Given the description of an element on the screen output the (x, y) to click on. 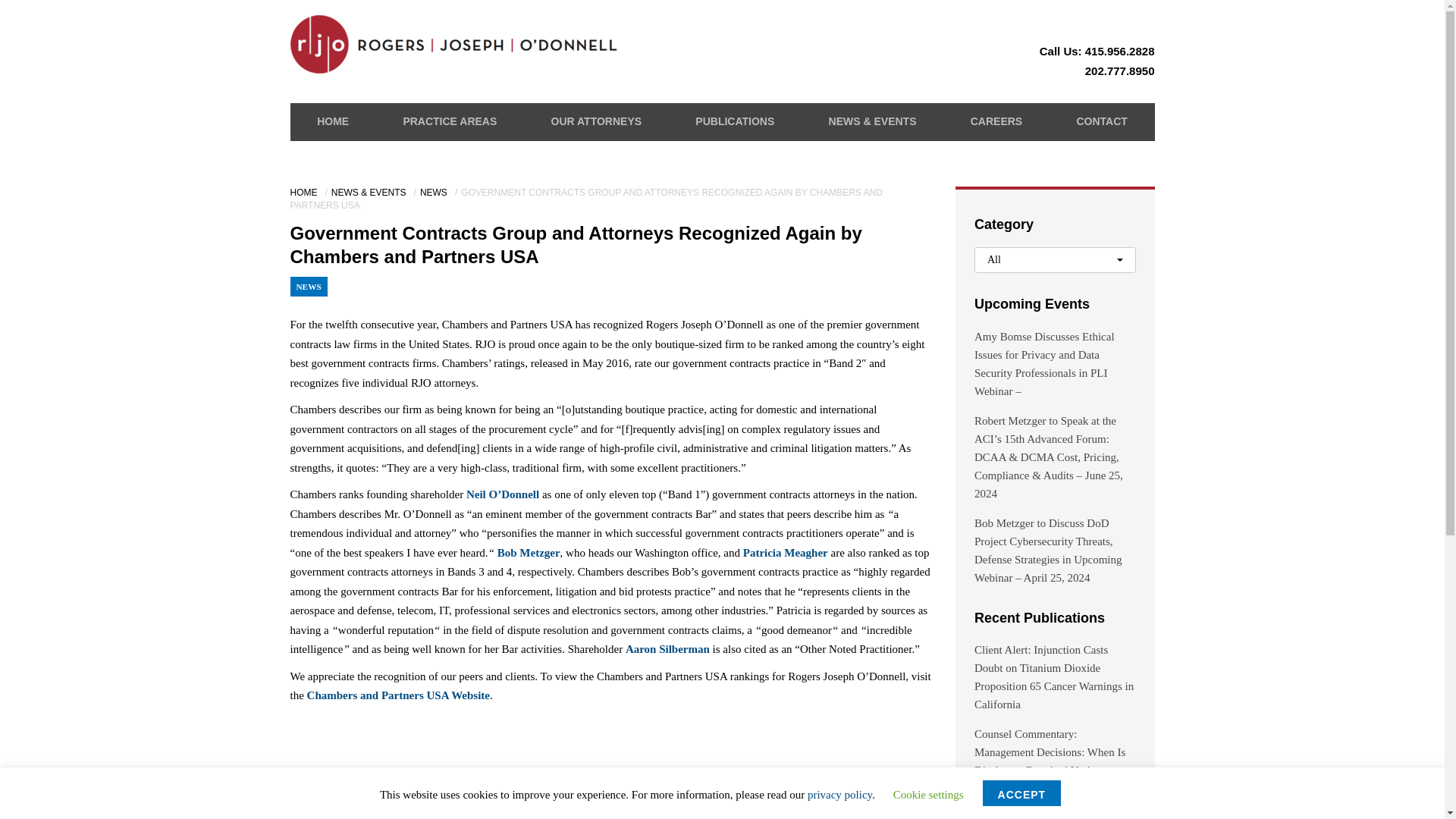
HOME (304, 192)
PUBLICATIONS (734, 121)
CAREERS (996, 121)
Bob Metzger (528, 552)
PRACTICE AREAS (449, 121)
Aaron Silberman (668, 648)
OUR ATTORNEYS (596, 121)
HOME (333, 121)
Go to the News Categories archives. (435, 192)
All (1054, 259)
Chambers and Partners USA Website (398, 695)
Patricia Meagher (785, 552)
NEWS (435, 192)
